Given the description of an element on the screen output the (x, y) to click on. 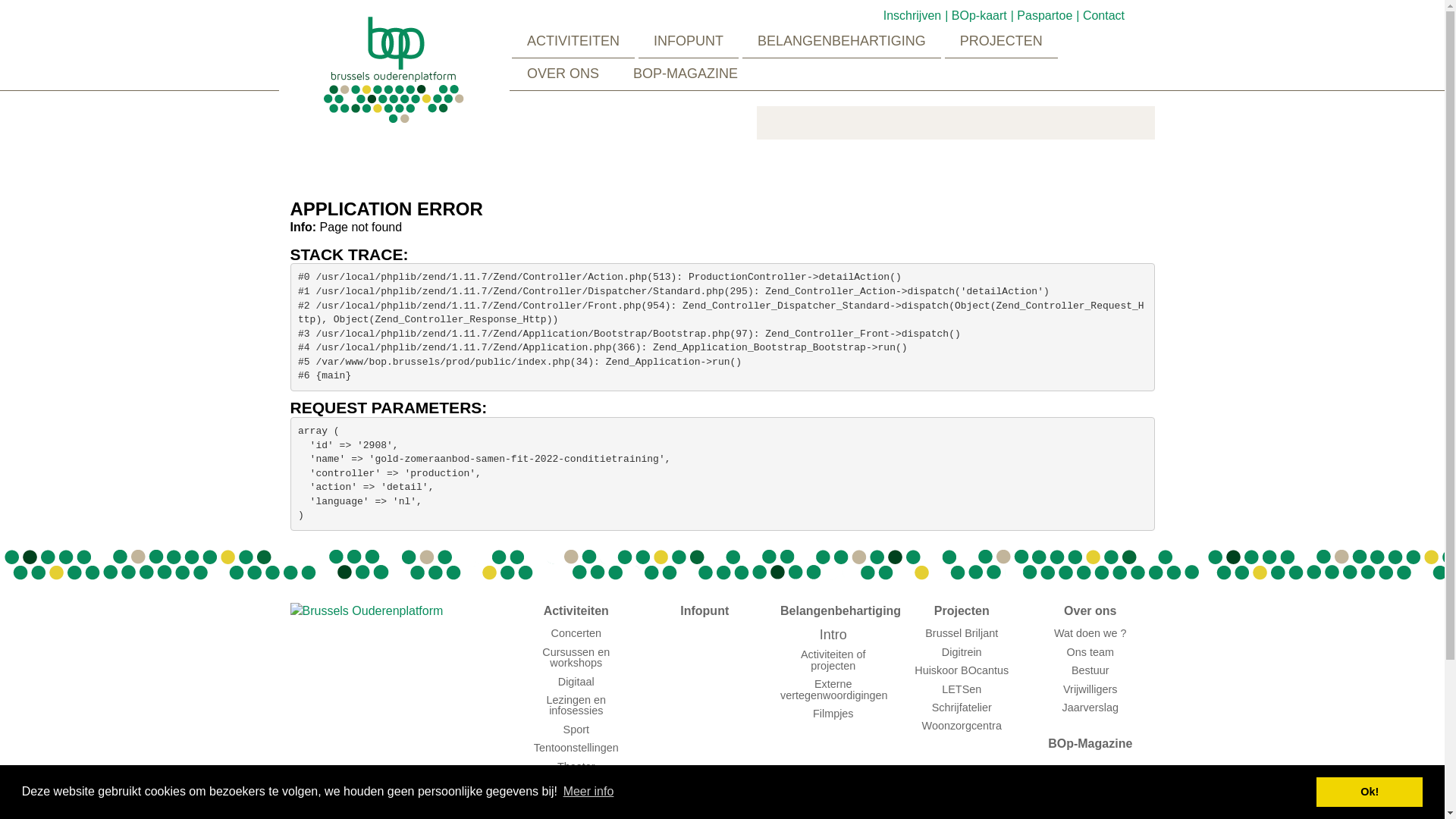
Uitstappen Element type: text (575, 784)
Contact Element type: text (1105, 15)
LETSen Element type: text (961, 689)
Activiteiten of projecten Element type: text (833, 659)
Ons team Element type: text (1089, 652)
Activiteiten Element type: text (576, 611)
BELANGENBEHARTIGING Element type: text (841, 41)
Schrijfatelier Element type: text (961, 707)
BOP-MAGAZINE Element type: text (685, 74)
Concerten Element type: text (576, 633)
Sport Element type: text (576, 729)
Woonzorgcentra Element type: text (961, 725)
Meer info Element type: text (587, 791)
Theater Element type: text (576, 766)
BOp-Magazine Element type: text (1090, 744)
Inschrijven Element type: text (915, 15)
Tentoonstellingen Element type: text (575, 747)
Brussel Briljant Element type: text (961, 633)
Paspartoe Element type: text (1047, 15)
Projecten Element type: text (961, 611)
Externe vertegenwoordigingen Element type: text (834, 688)
Vrijwilligers Element type: text (1090, 689)
INFOPUNT Element type: text (688, 41)
Jaarverslag Element type: text (1090, 707)
Infopunt Element type: text (705, 611)
Intro Element type: text (833, 634)
Verblijven Element type: text (575, 803)
Digitaal Element type: text (576, 681)
Filmpjes Element type: text (832, 713)
Huiskoor BOcantus Element type: text (961, 670)
Belangenbehartiging Element type: text (833, 611)
ACTIVITEITEN Element type: text (572, 41)
Cursussen en workshops Element type: text (575, 657)
Wat doen we ? Element type: text (1090, 633)
Ok! Element type: text (1369, 791)
Over ons Element type: text (1090, 611)
PROJECTEN Element type: text (1000, 41)
Digitrein Element type: text (961, 652)
Lezingen en infosessies Element type: text (575, 704)
Bestuur Element type: text (1090, 670)
OVER ONS Element type: text (562, 74)
BOp-kaart Element type: text (982, 15)
